Given the description of an element on the screen output the (x, y) to click on. 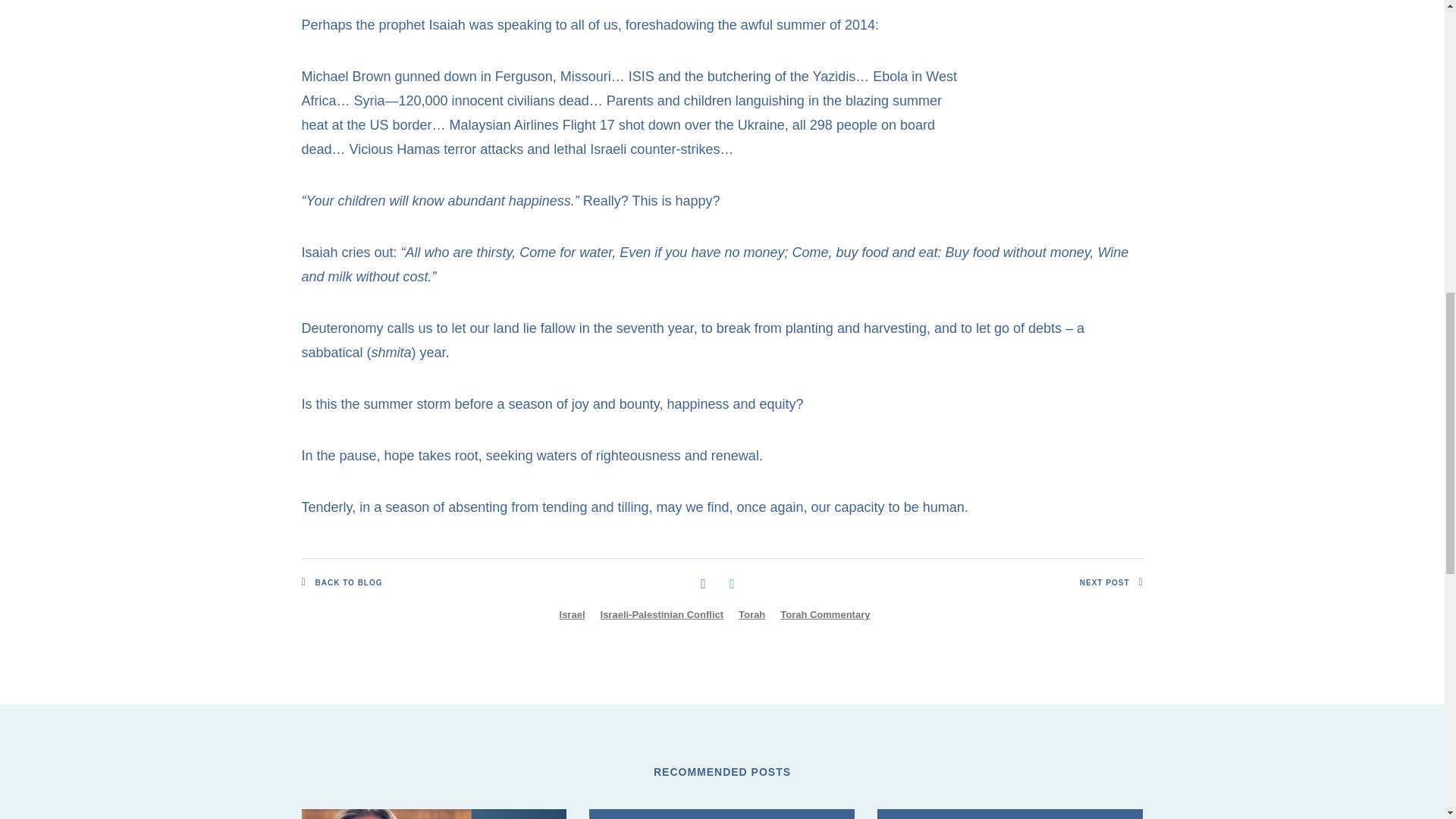
Torah Commentary (825, 614)
Israeli-Palestinian Conflict (662, 614)
Israel (571, 614)
Facebook (702, 582)
Linked In (731, 582)
Torah (751, 614)
